Given the description of an element on the screen output the (x, y) to click on. 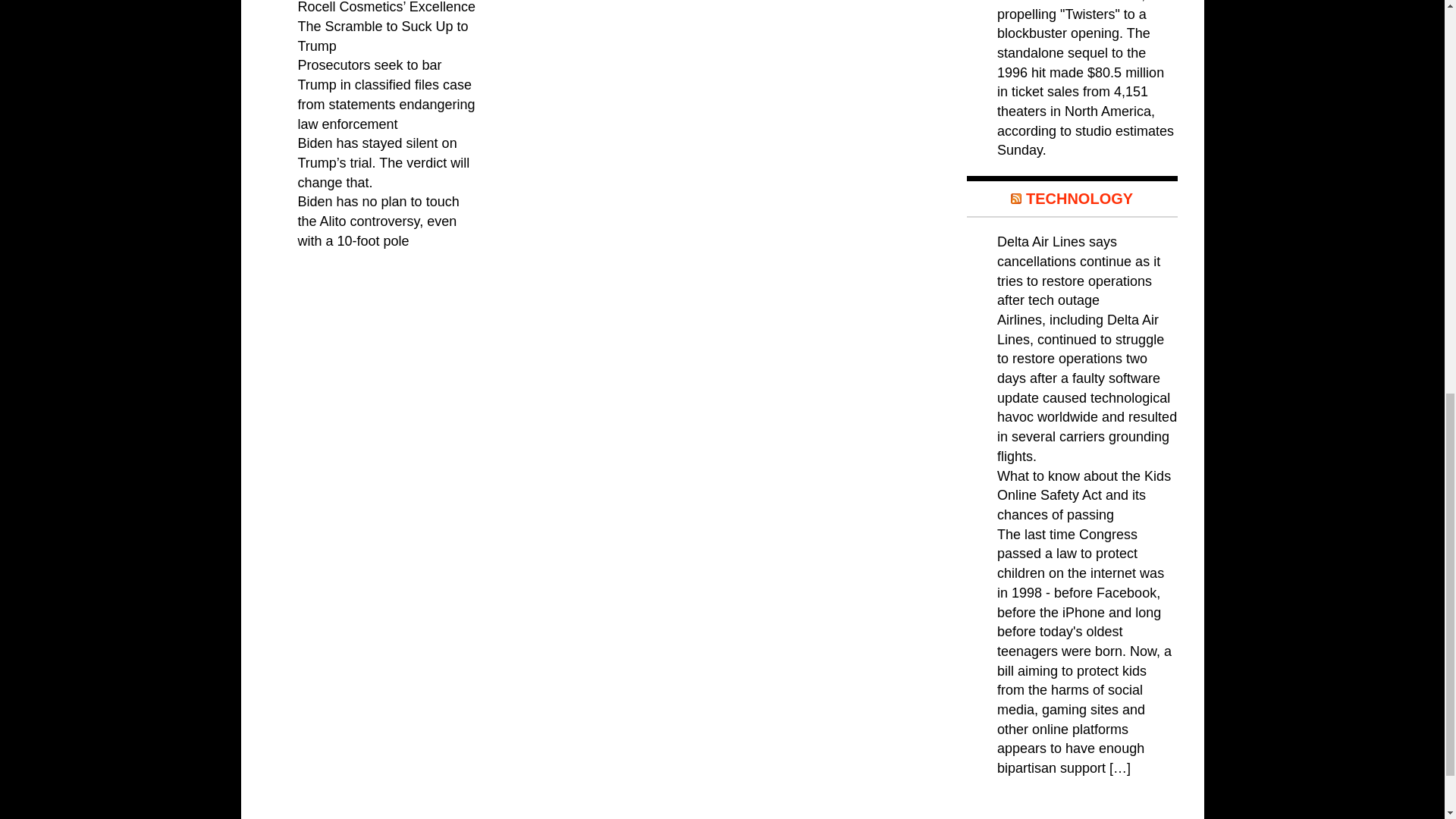
The Scramble to Suck Up to Trump (382, 36)
TECHNOLOGY (1079, 198)
